Given the description of an element on the screen output the (x, y) to click on. 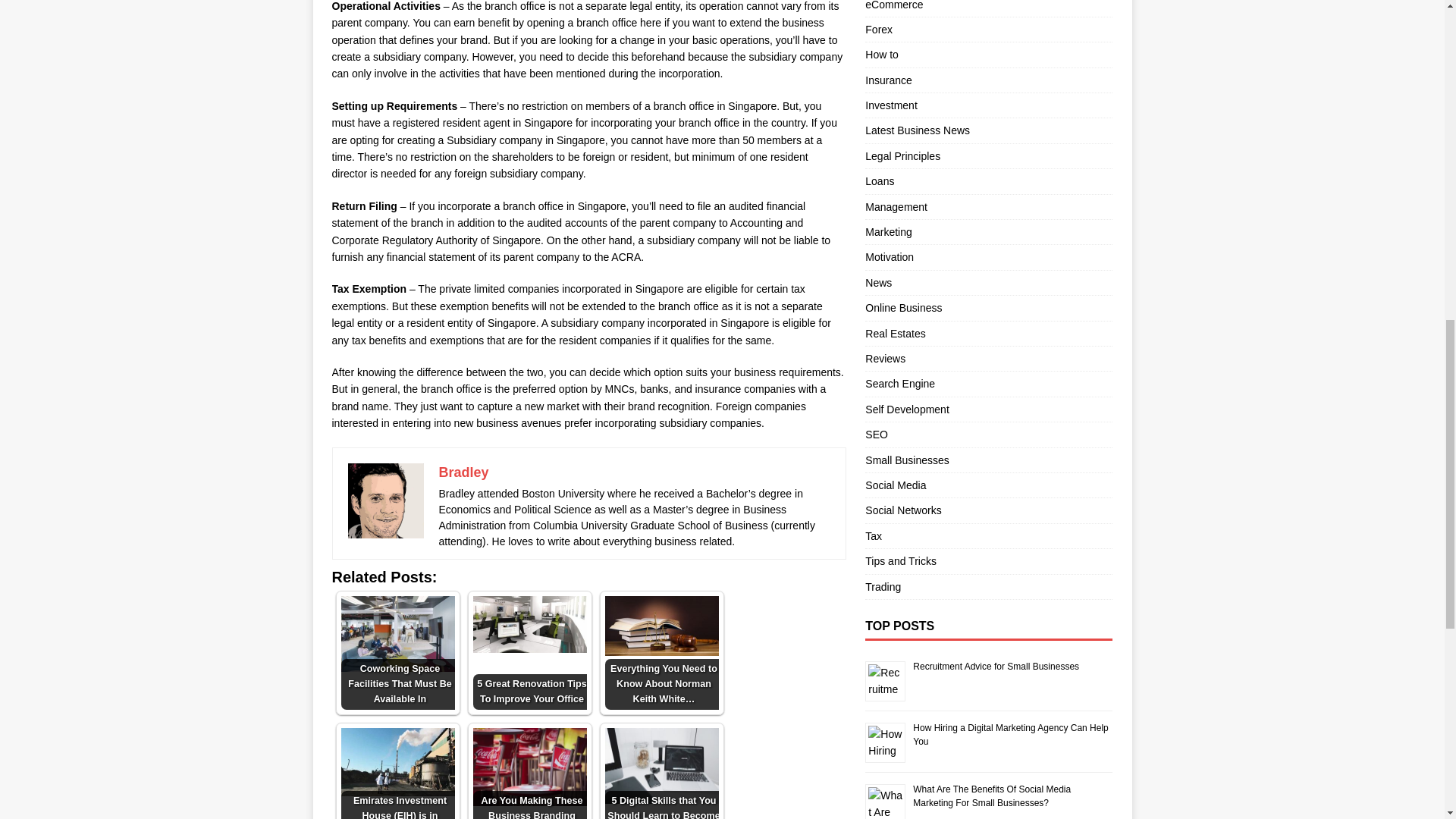
5 Great Renovation Tips To Improve Your Office (529, 624)
Are You Making These Business Branding Mistakes? (529, 773)
5 Great Renovation Tips To Improve Your Office (529, 653)
Bradley (462, 471)
Are You Making These Business Branding Mistakes? (529, 767)
Coworking Space Facilities That Must Be Available In (397, 633)
Coworking Space Facilities That Must Be Available In (397, 653)
Bradley Cooper (385, 500)
